Given the description of an element on the screen output the (x, y) to click on. 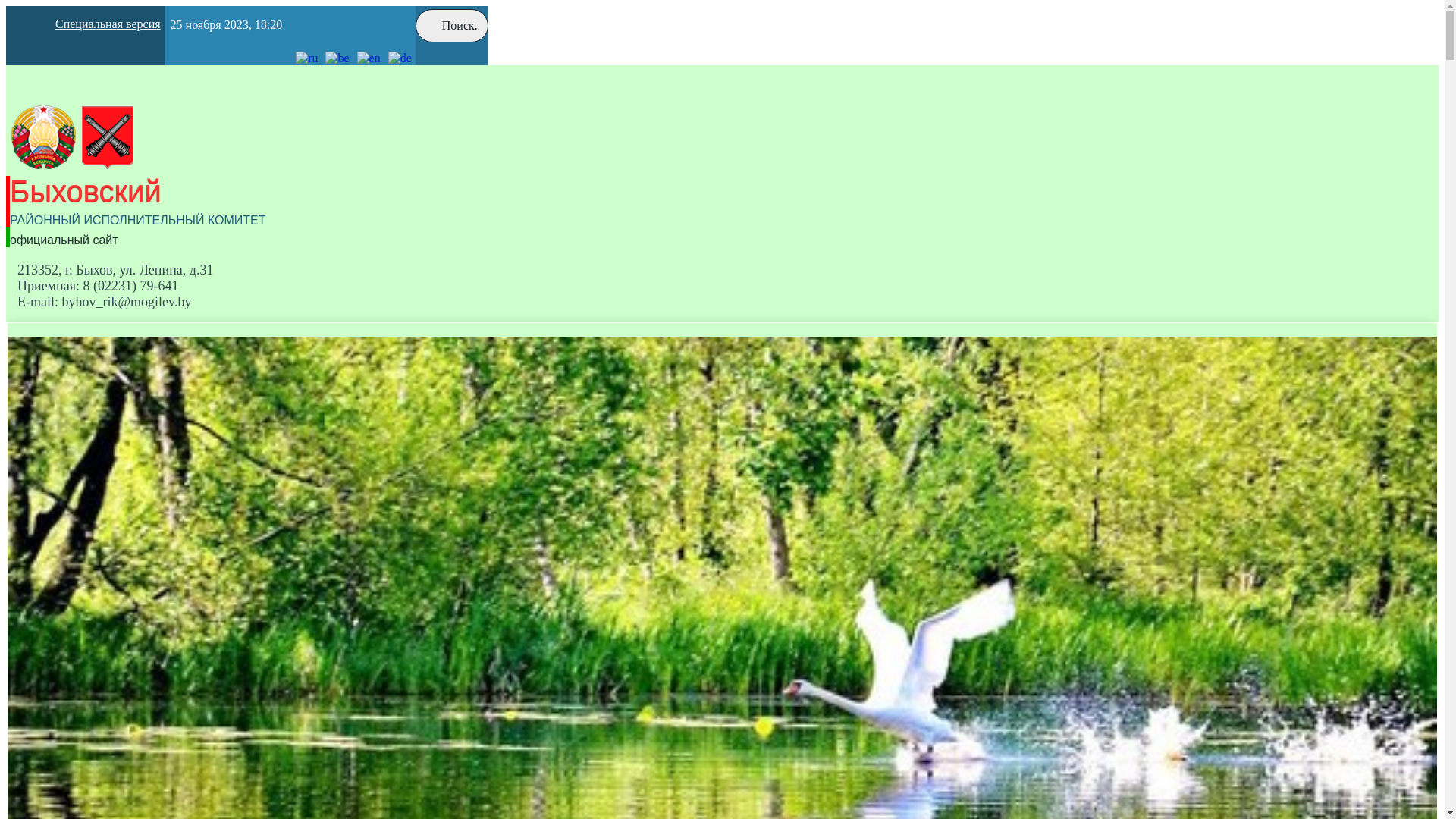
German Element type: hover (399, 56)
Russian Element type: hover (306, 56)
English Element type: hover (368, 56)
Belarusian Element type: hover (336, 56)
